Given the description of an element on the screen output the (x, y) to click on. 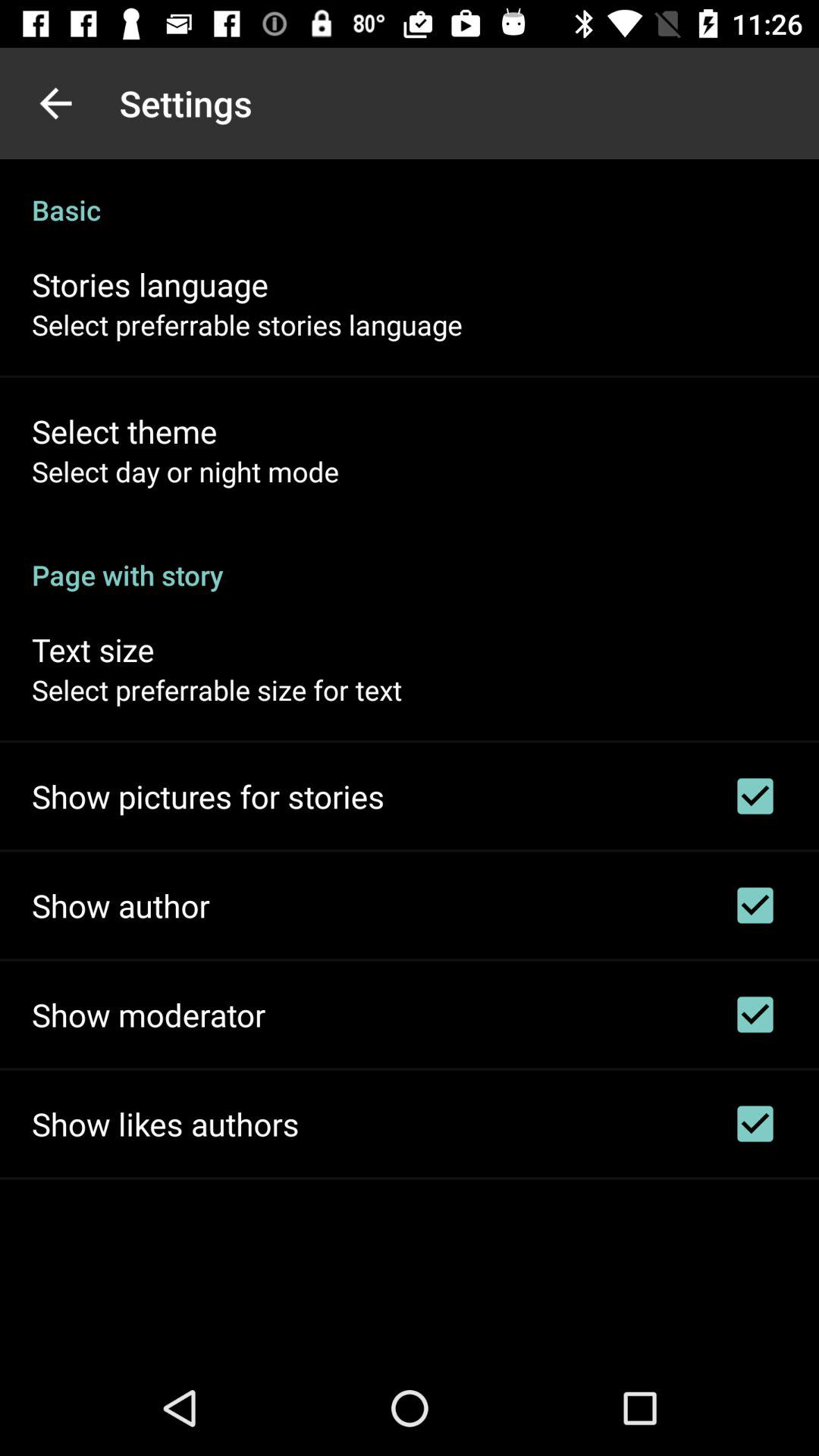
choose item to the left of the settings item (55, 103)
